Given the description of an element on the screen output the (x, y) to click on. 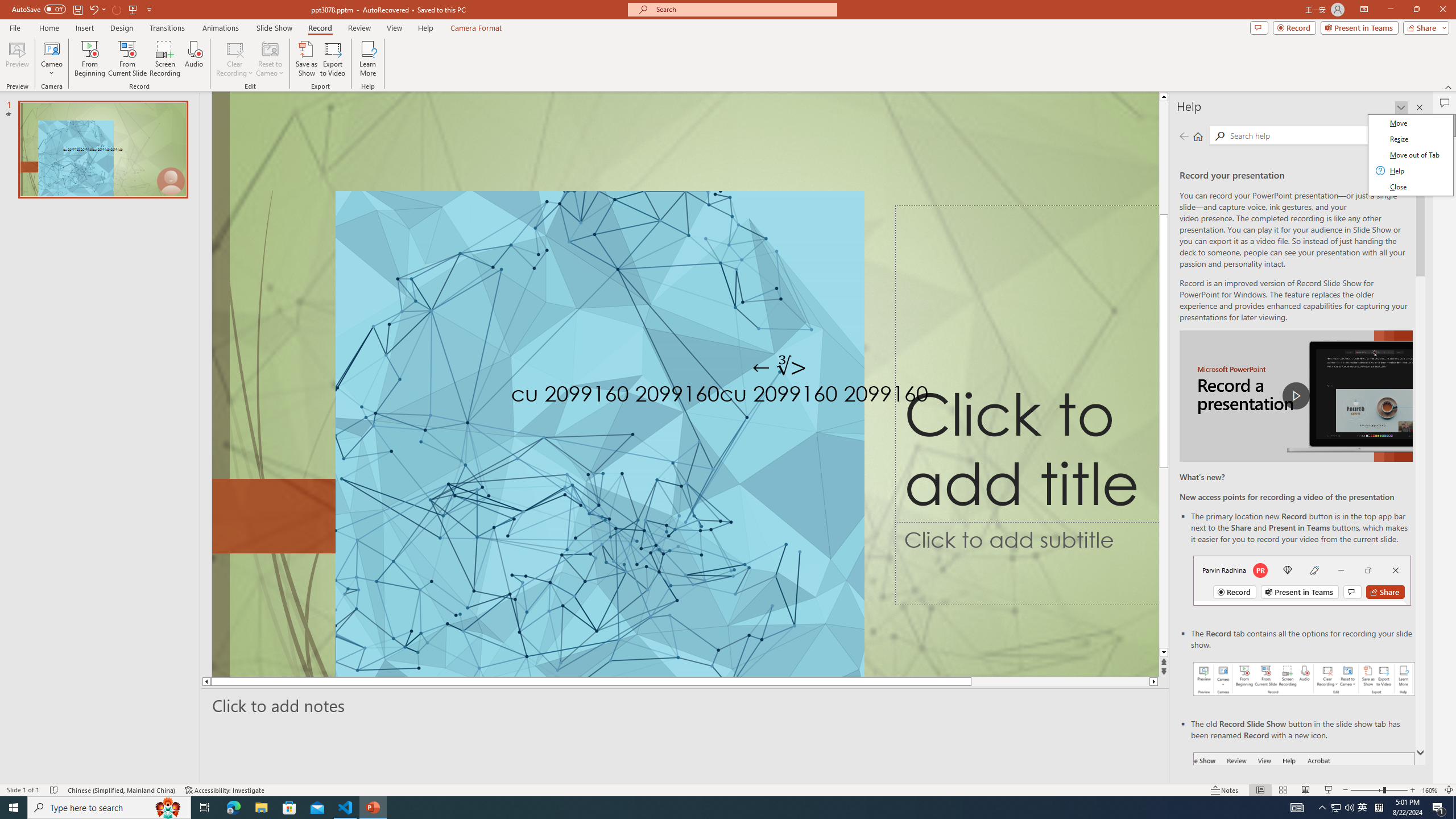
TextBox 7 (779, 367)
